Given the description of an element on the screen output the (x, y) to click on. 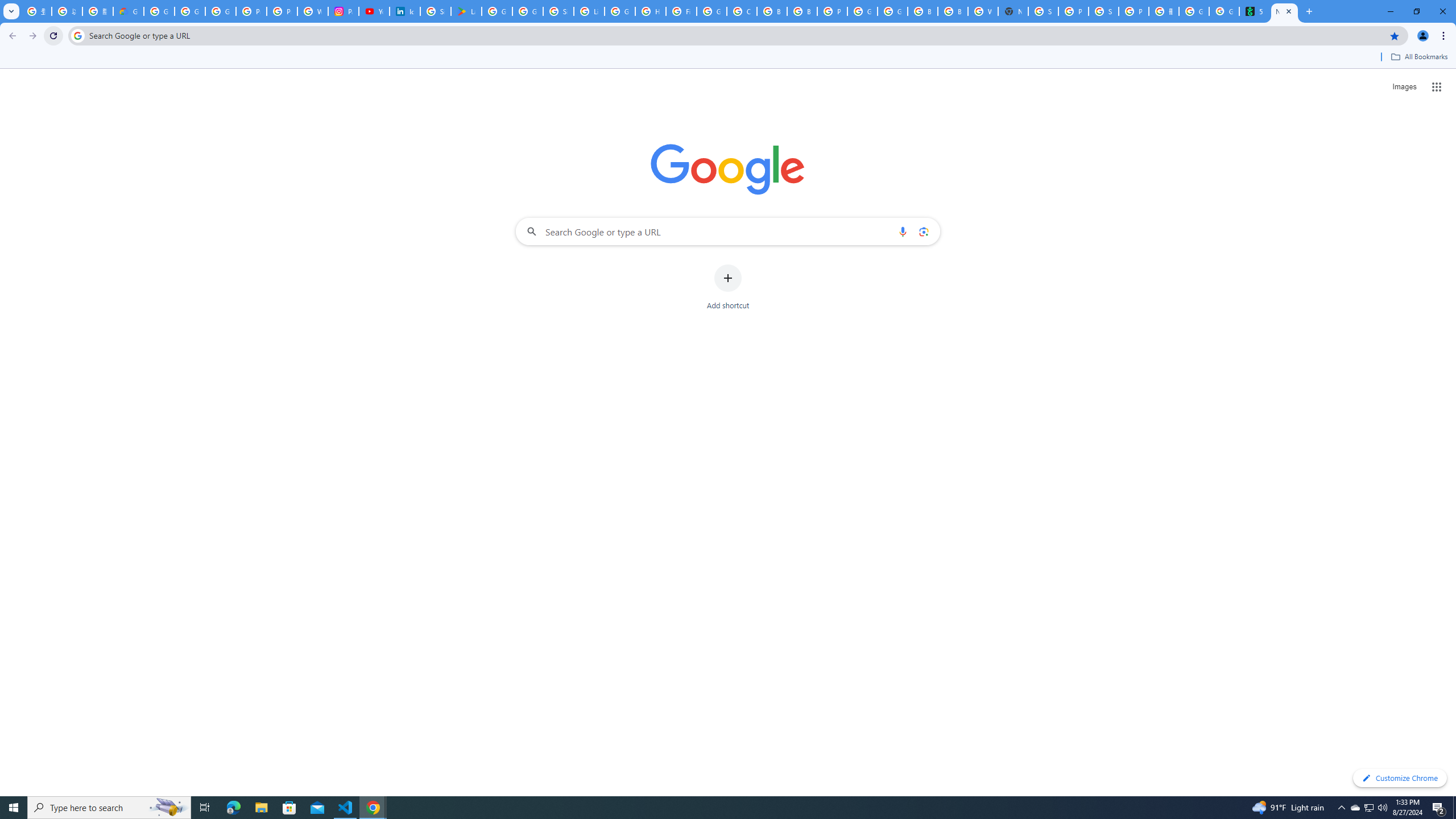
New Tab (1283, 11)
All Bookmarks (1418, 56)
Search by voice (902, 230)
